Given the description of an element on the screen output the (x, y) to click on. 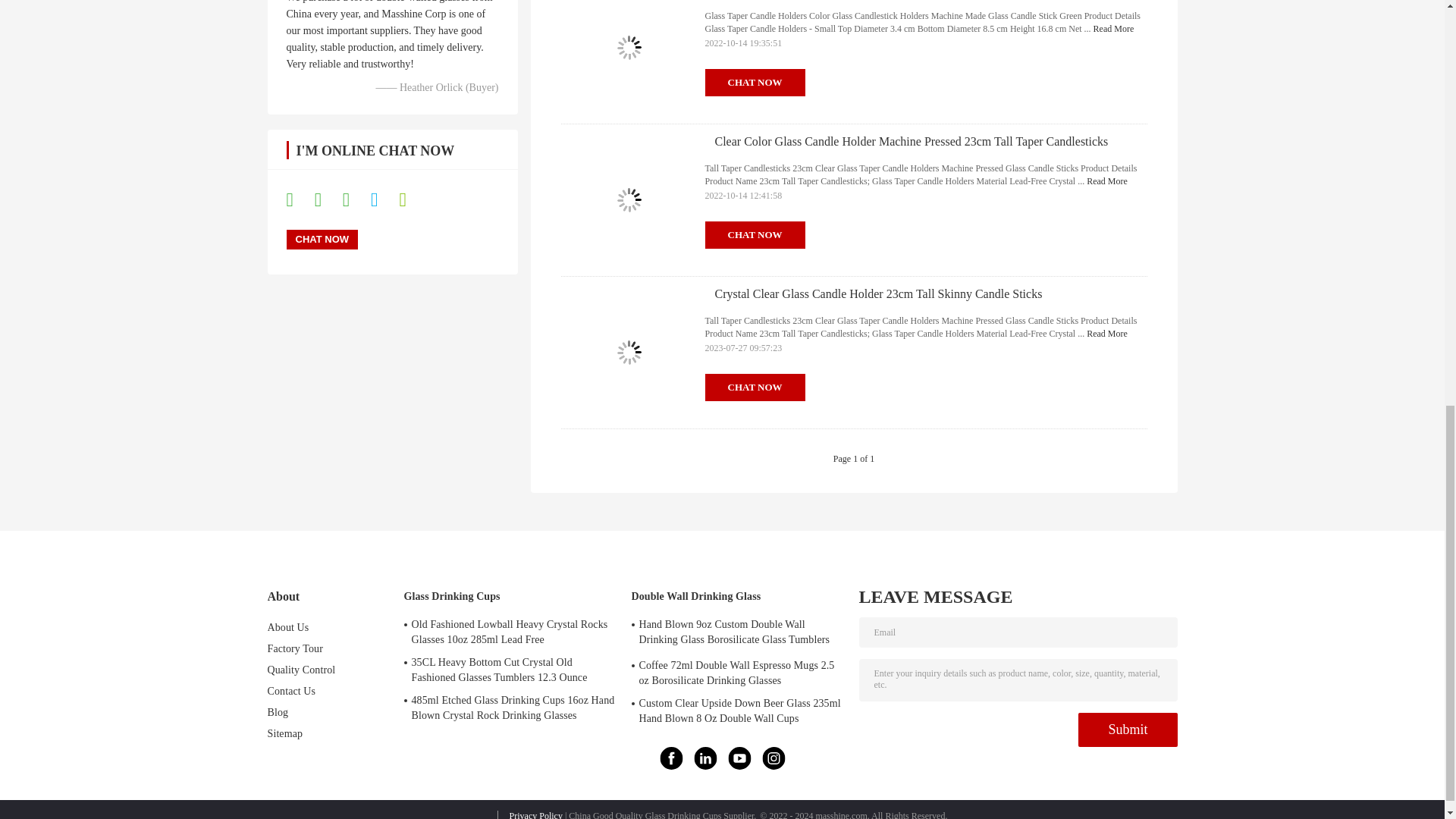
Submit (1127, 729)
Chat Now (322, 239)
